Given the description of an element on the screen output the (x, y) to click on. 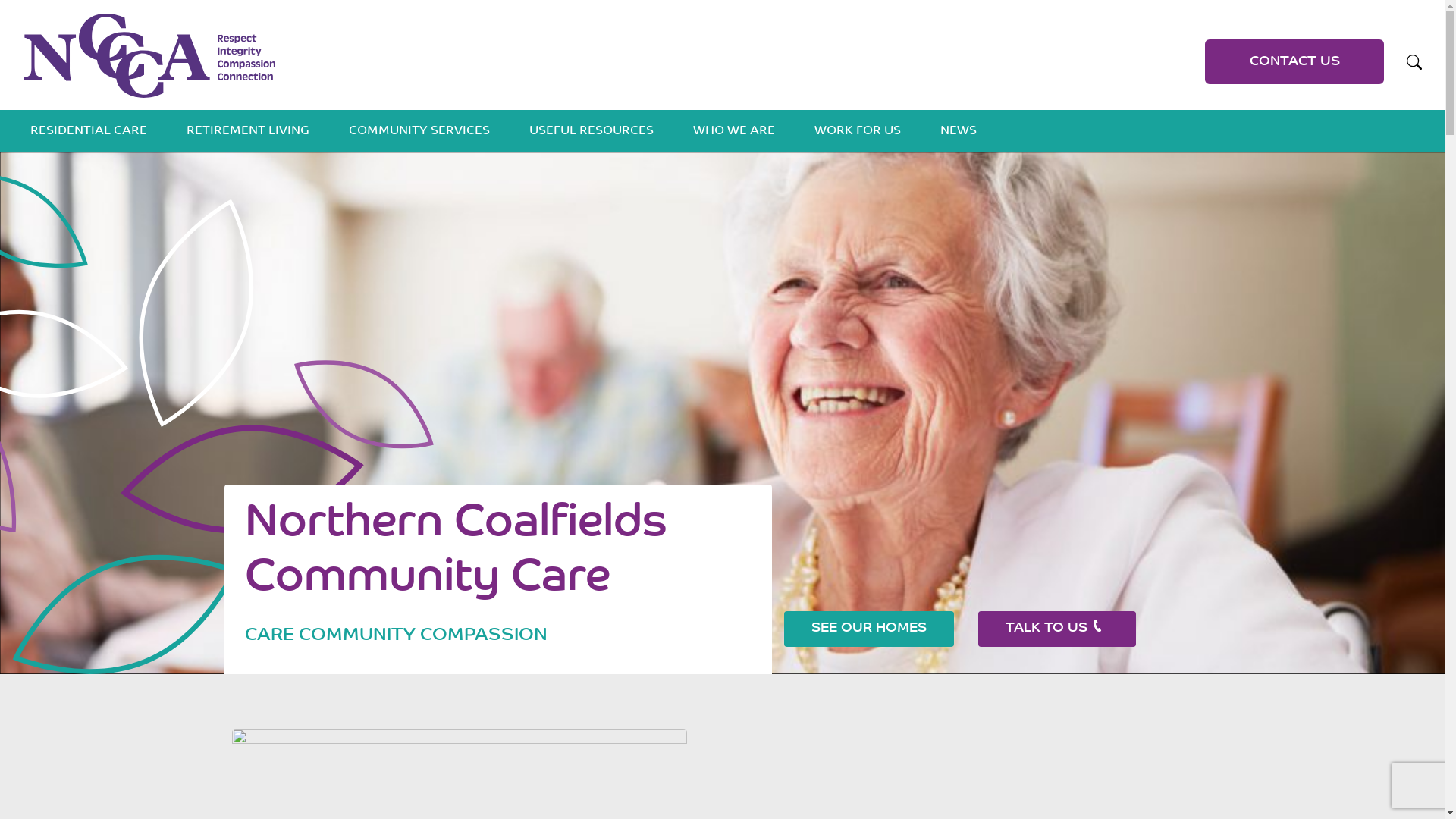
TALK TO US Element type: text (1056, 628)
RESIDENTIAL CARE Element type: text (88, 130)
USEFUL RESOURCES Element type: text (591, 130)
Search Element type: text (1159, 54)
WORK FOR US Element type: text (857, 130)
SEE OUR HOMES Element type: text (868, 628)
COMMUNITY SERVICES Element type: text (418, 130)
CONTACT US Element type: text (1293, 61)
WHO WE ARE Element type: text (734, 130)
OPEN SEARCH Element type: text (1414, 61)
NEWS Element type: text (958, 130)
RETIREMENT LIVING Element type: text (247, 130)
